Given the description of an element on the screen output the (x, y) to click on. 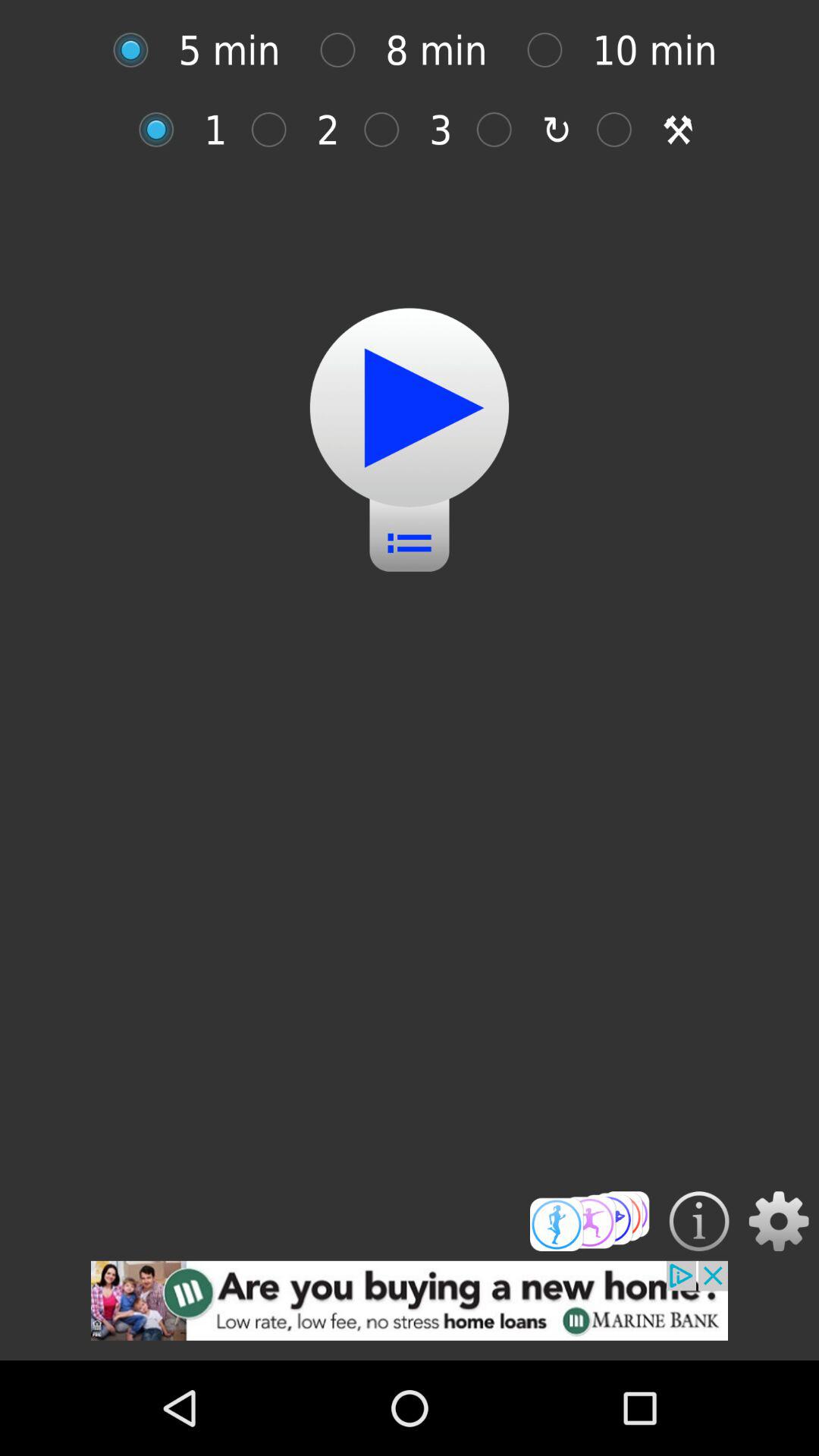
click to get more details (699, 1221)
